Given the description of an element on the screen output the (x, y) to click on. 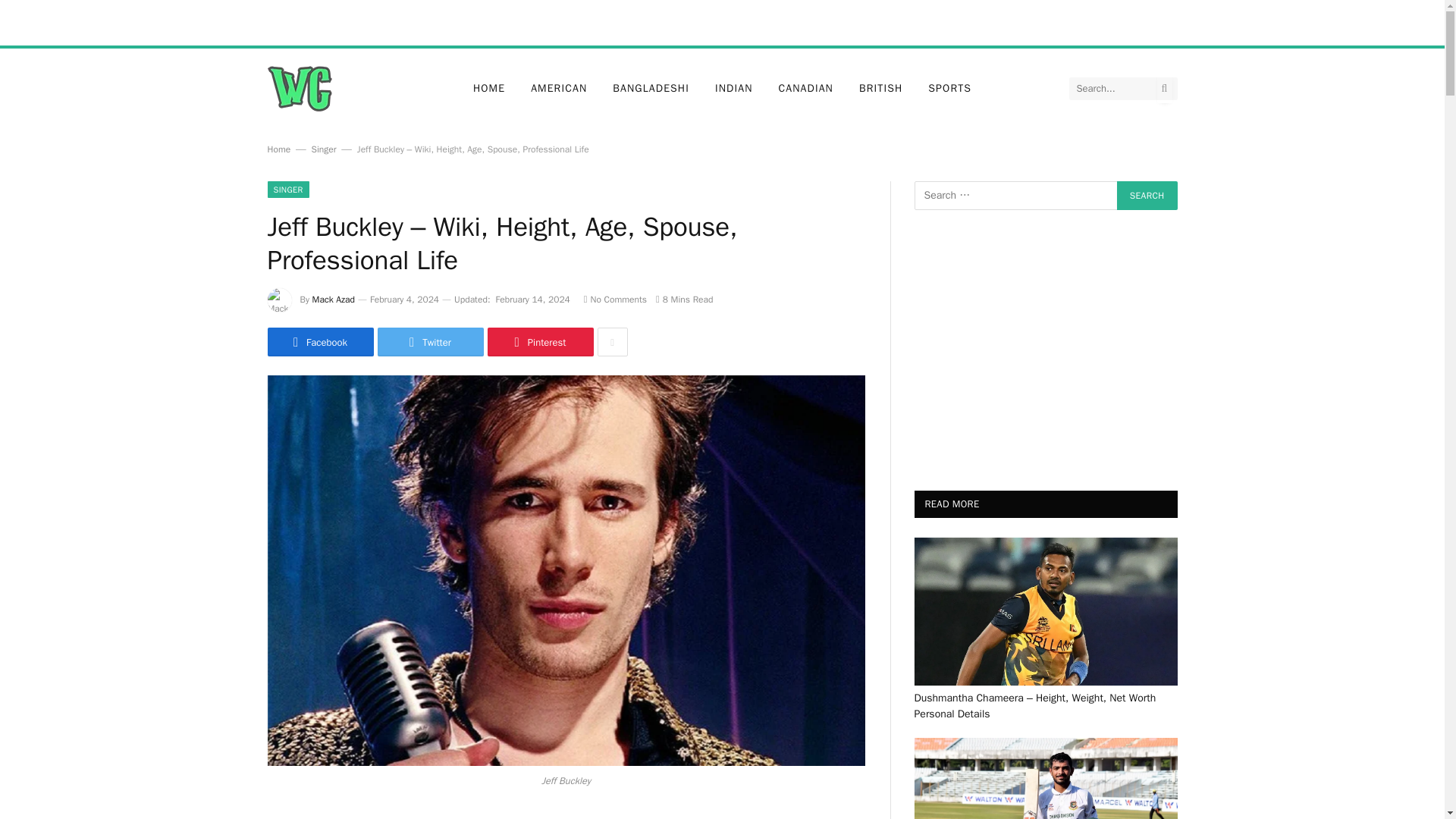
Search (1146, 194)
SINGER (287, 189)
CANADIAN (805, 88)
AMERICAN (558, 88)
Search (1146, 194)
Home (277, 149)
Share on Facebook (319, 341)
BANGLADESHI (650, 88)
Facebook (319, 341)
Pinterest (539, 341)
Singer (323, 149)
Mack Azad (334, 299)
Share on Pinterest (539, 341)
Show More Social Sharing (611, 341)
World Celebrity (298, 88)
